Given the description of an element on the screen output the (x, y) to click on. 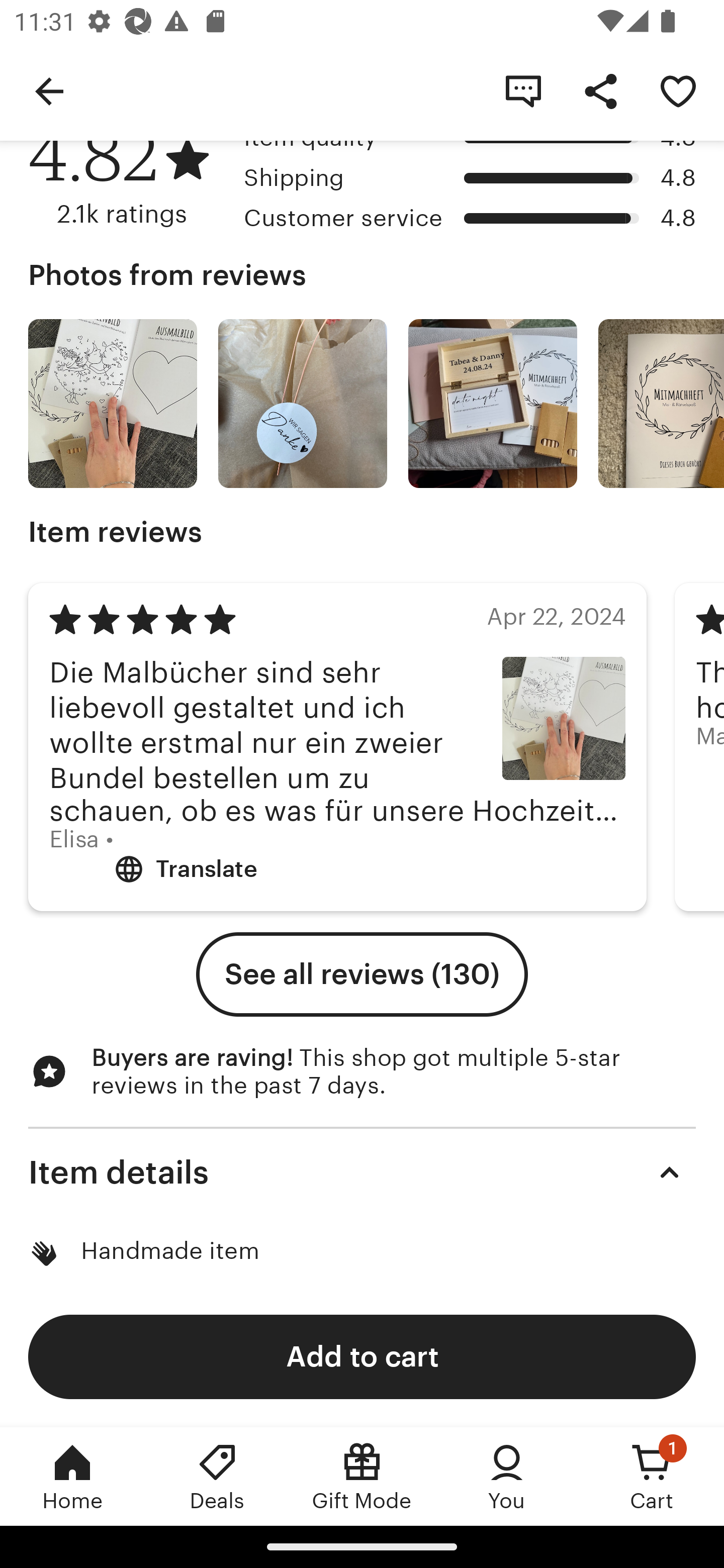
Navigate up (49, 90)
Contact shop (523, 90)
Share (600, 90)
4.82 2.1k ratings (128, 175)
Photo from review (112, 403)
Photo from review (302, 403)
Photo from review (492, 403)
Photo from review (661, 403)
Translate (184, 868)
See all reviews (130) (361, 974)
Item details (362, 1172)
Add to cart (361, 1355)
Deals (216, 1475)
Gift Mode (361, 1475)
You (506, 1475)
Cart, 1 new notification Cart (651, 1475)
